Given the description of an element on the screen output the (x, y) to click on. 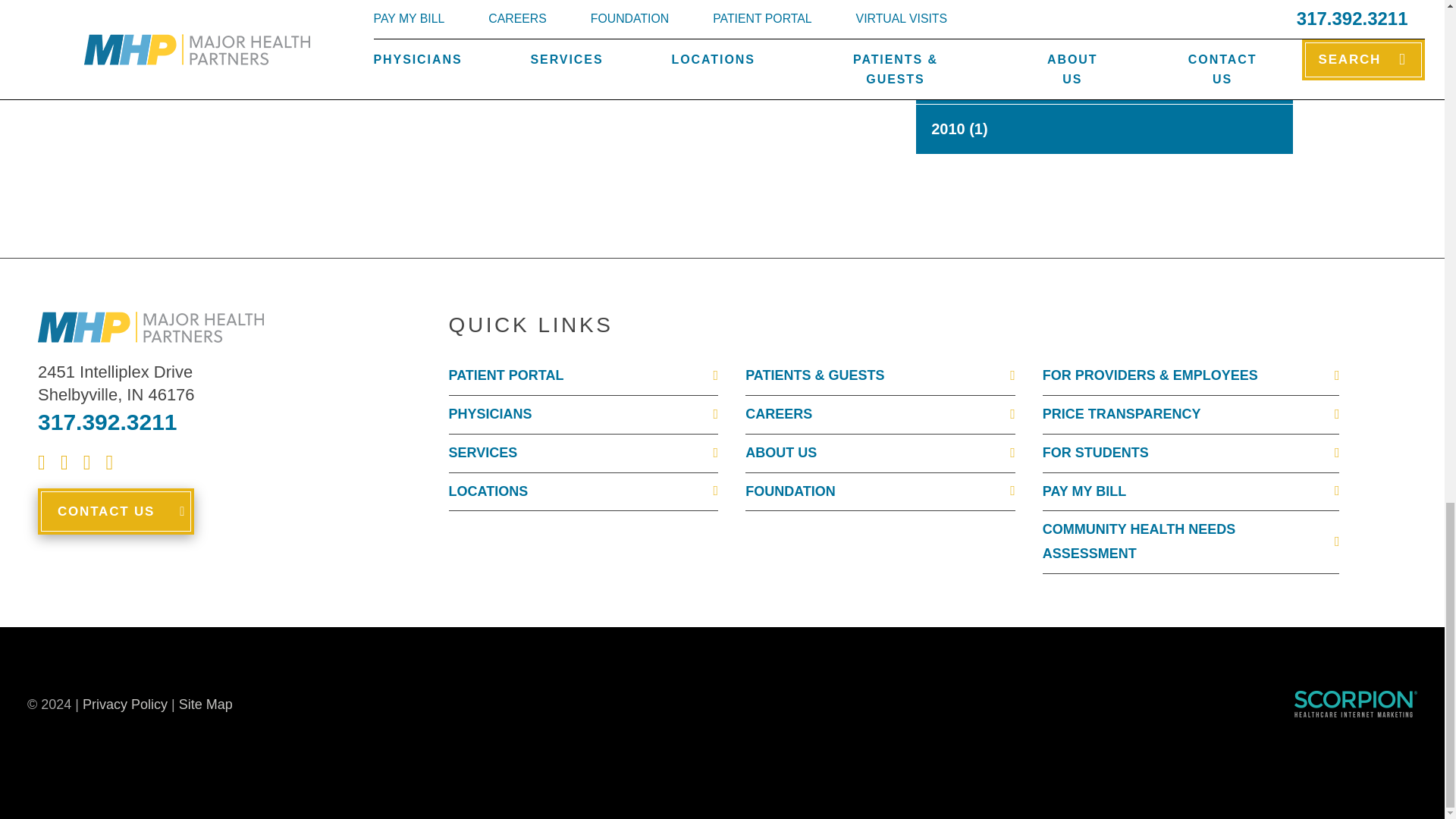
Scorpion Healthcare (1355, 704)
Major Health Partners (150, 327)
